Given the description of an element on the screen output the (x, y) to click on. 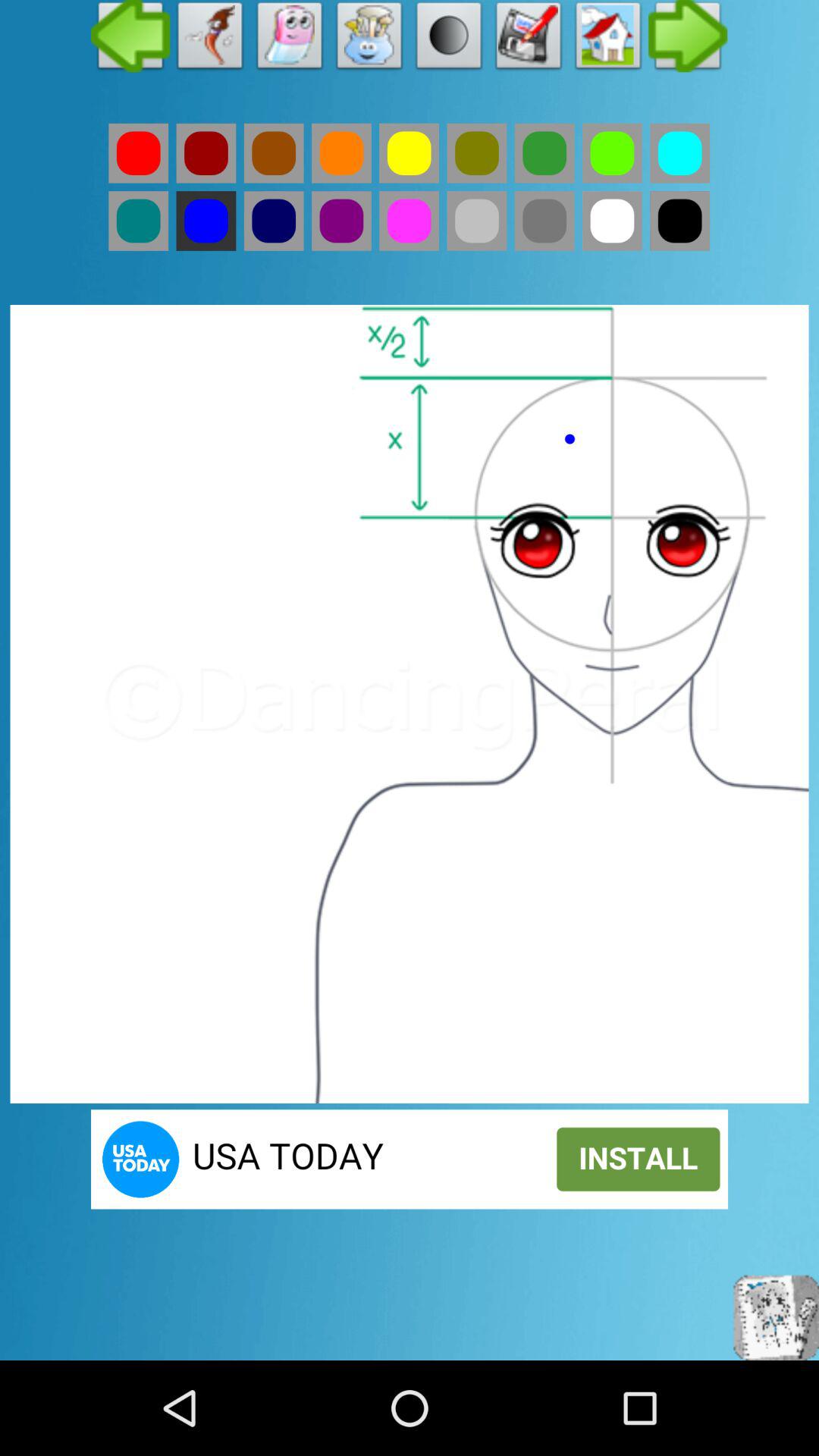
green (544, 220)
